Given the description of an element on the screen output the (x, y) to click on. 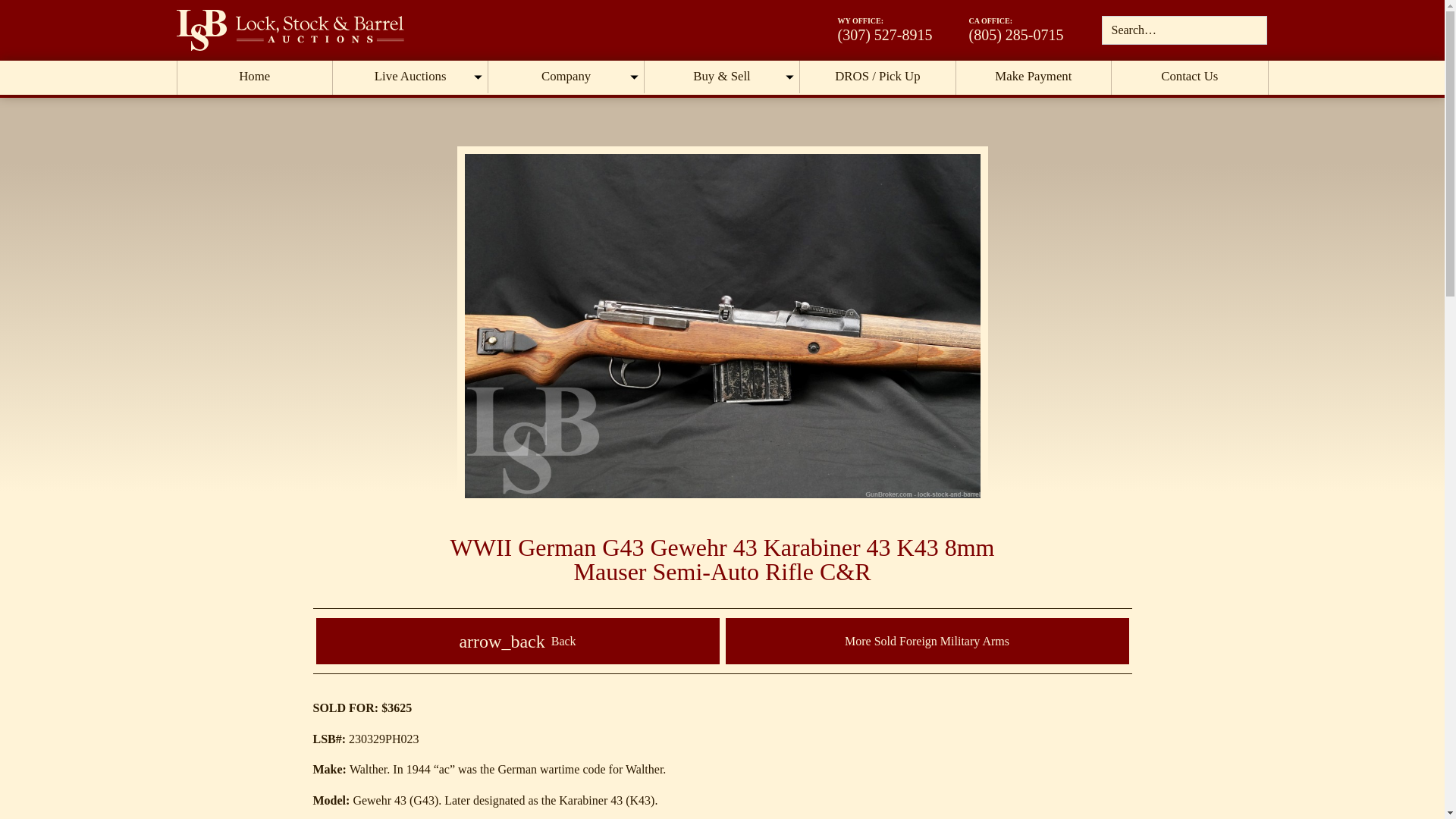
Company (565, 76)
Home (255, 77)
Make Payment (1034, 77)
Contact Us (1189, 77)
More Sold Foreign Military Arms (926, 641)
Live Auctions (410, 76)
